Given the description of an element on the screen output the (x, y) to click on. 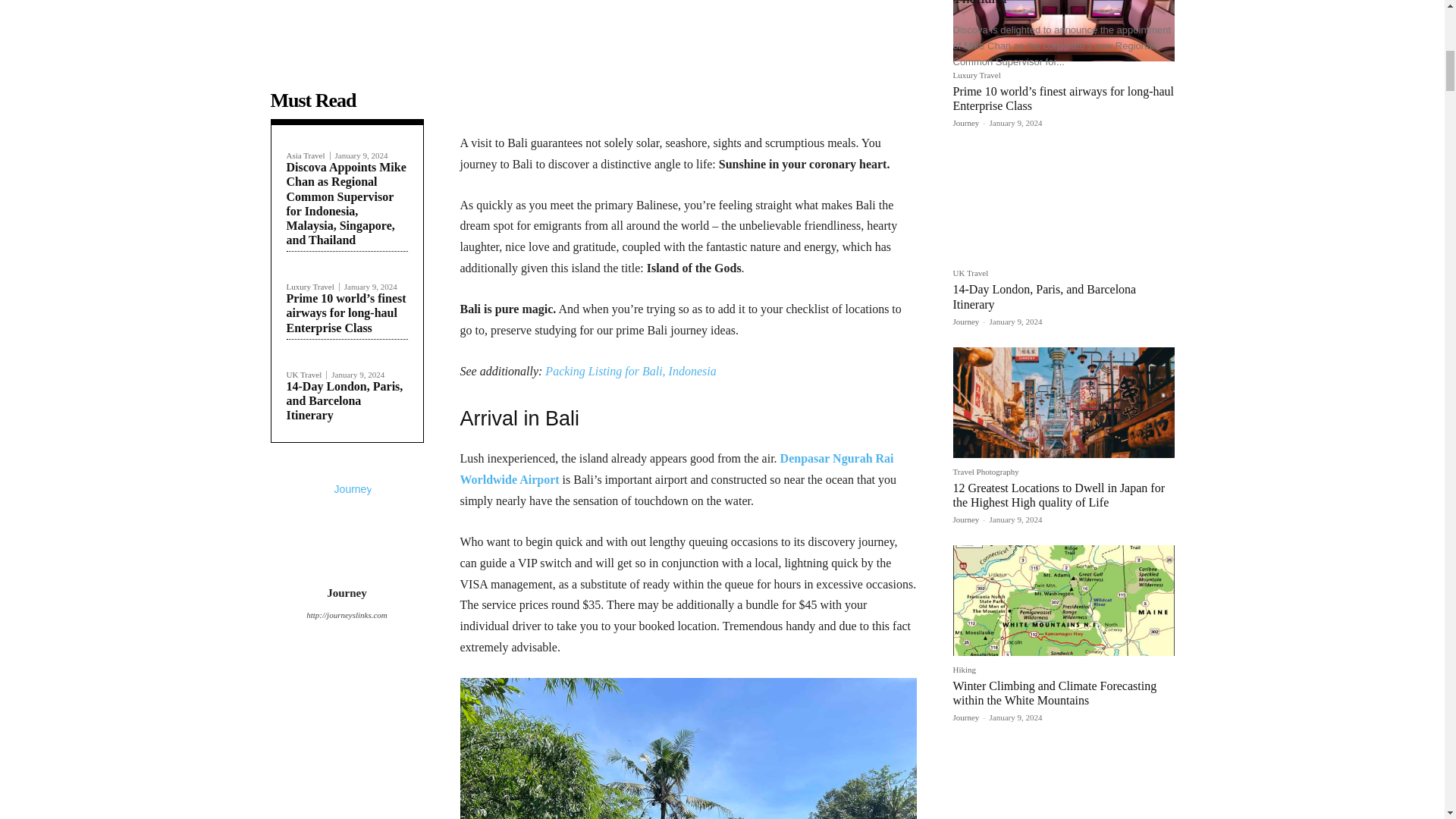
14-Day London, Paris, and Barcelona Itinerary (344, 400)
